Given the description of an element on the screen output the (x, y) to click on. 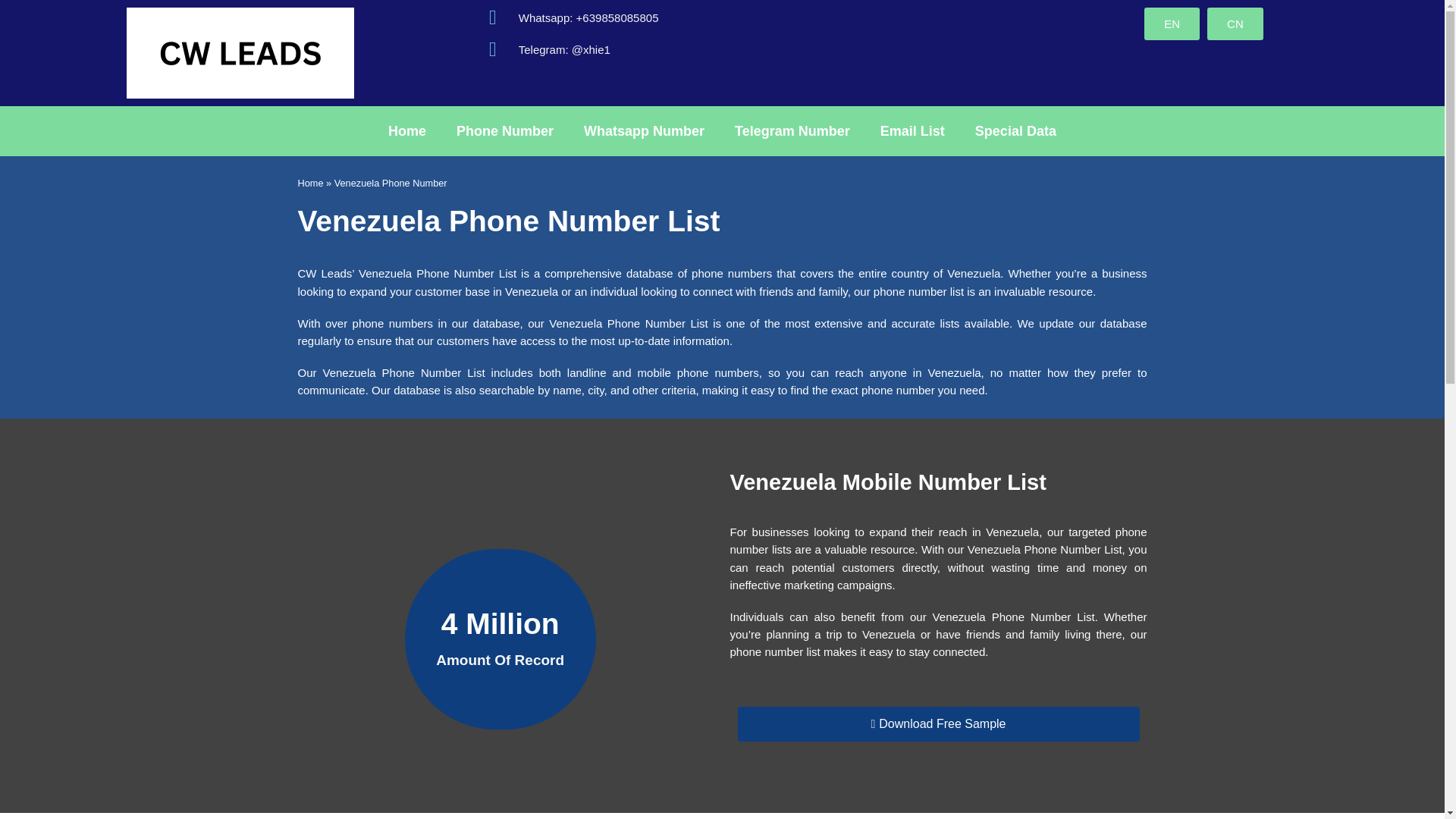
Email List (911, 130)
CN (1235, 23)
Home (406, 130)
Phone Number (505, 130)
Download Free Sample (937, 724)
Special Data (1015, 130)
EN (1171, 23)
Whatsapp Number (644, 130)
Home (310, 183)
Telegram Number (791, 130)
